Given the description of an element on the screen output the (x, y) to click on. 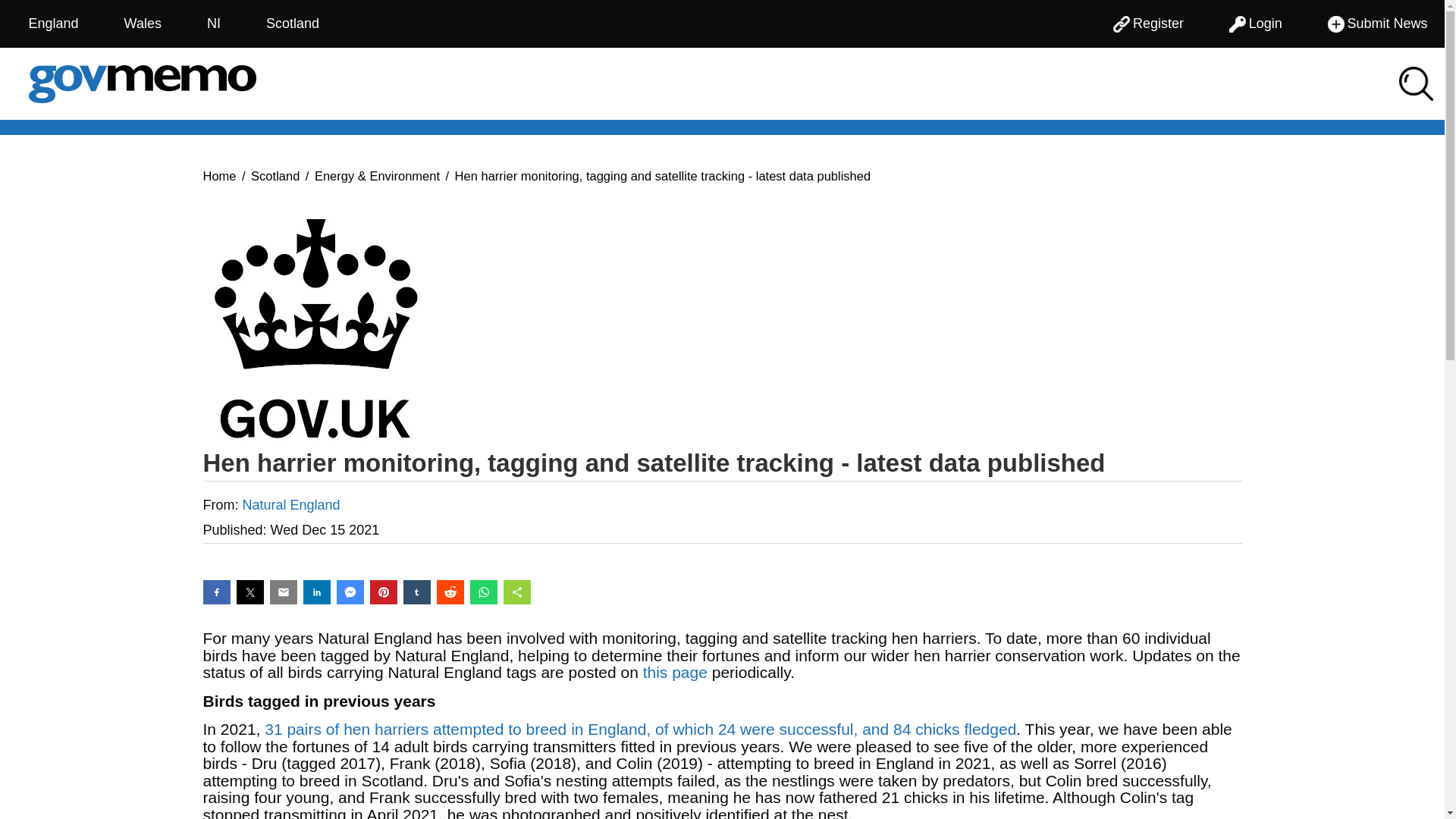
Login (1255, 23)
England (52, 23)
Register (1148, 23)
Home (219, 174)
this page (675, 671)
Natural England (291, 504)
Wales (143, 23)
Scotland (292, 23)
Submit News (1377, 23)
Scotland (274, 174)
